Given the description of an element on the screen output the (x, y) to click on. 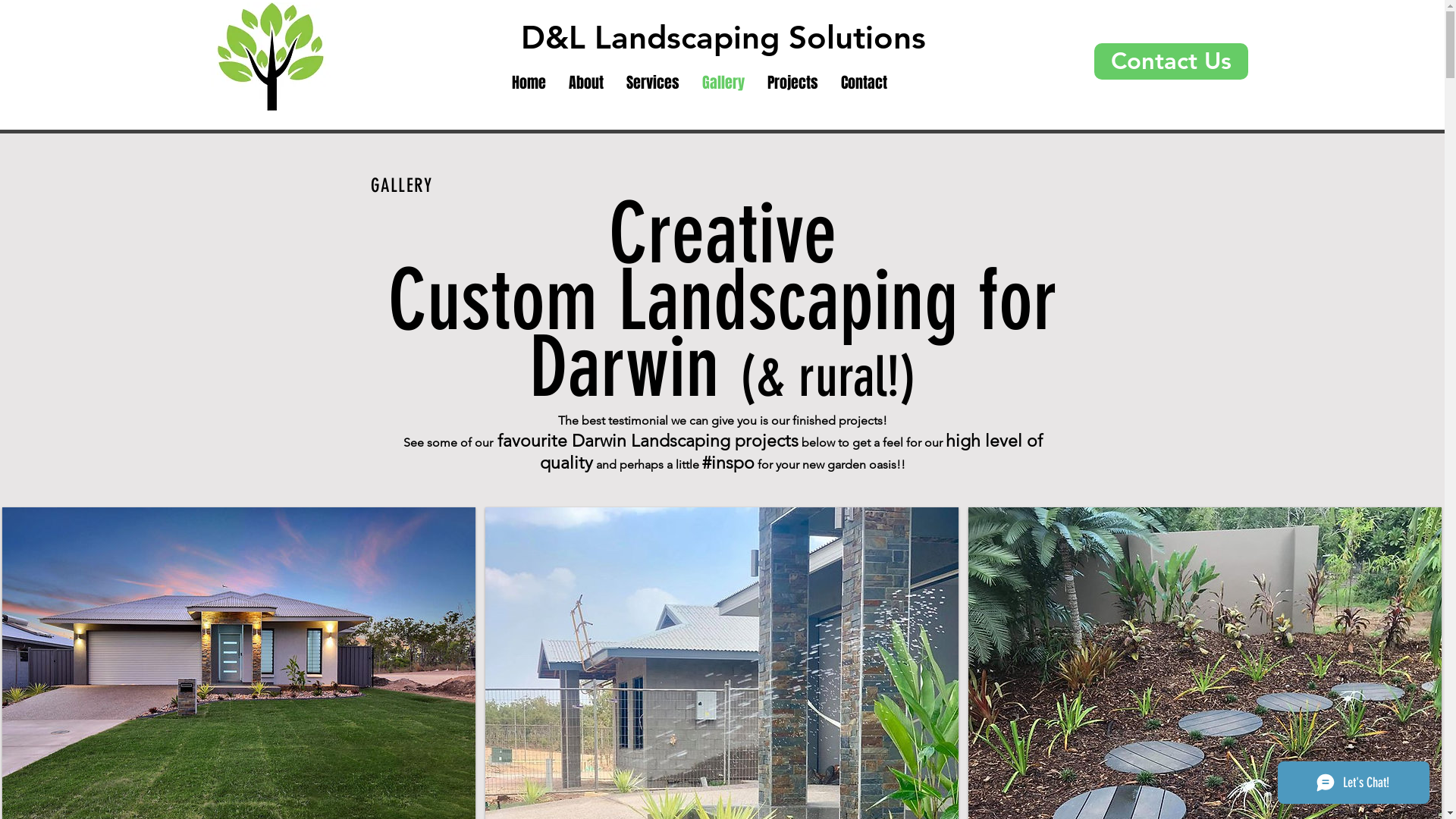
Contact Us Element type: text (1170, 61)
Services Element type: text (652, 82)
Contact Element type: text (863, 82)
Projects Element type: text (791, 82)
Gallery Element type: text (722, 82)
About Element type: text (585, 82)
Home Element type: text (528, 82)
